Given the description of an element on the screen output the (x, y) to click on. 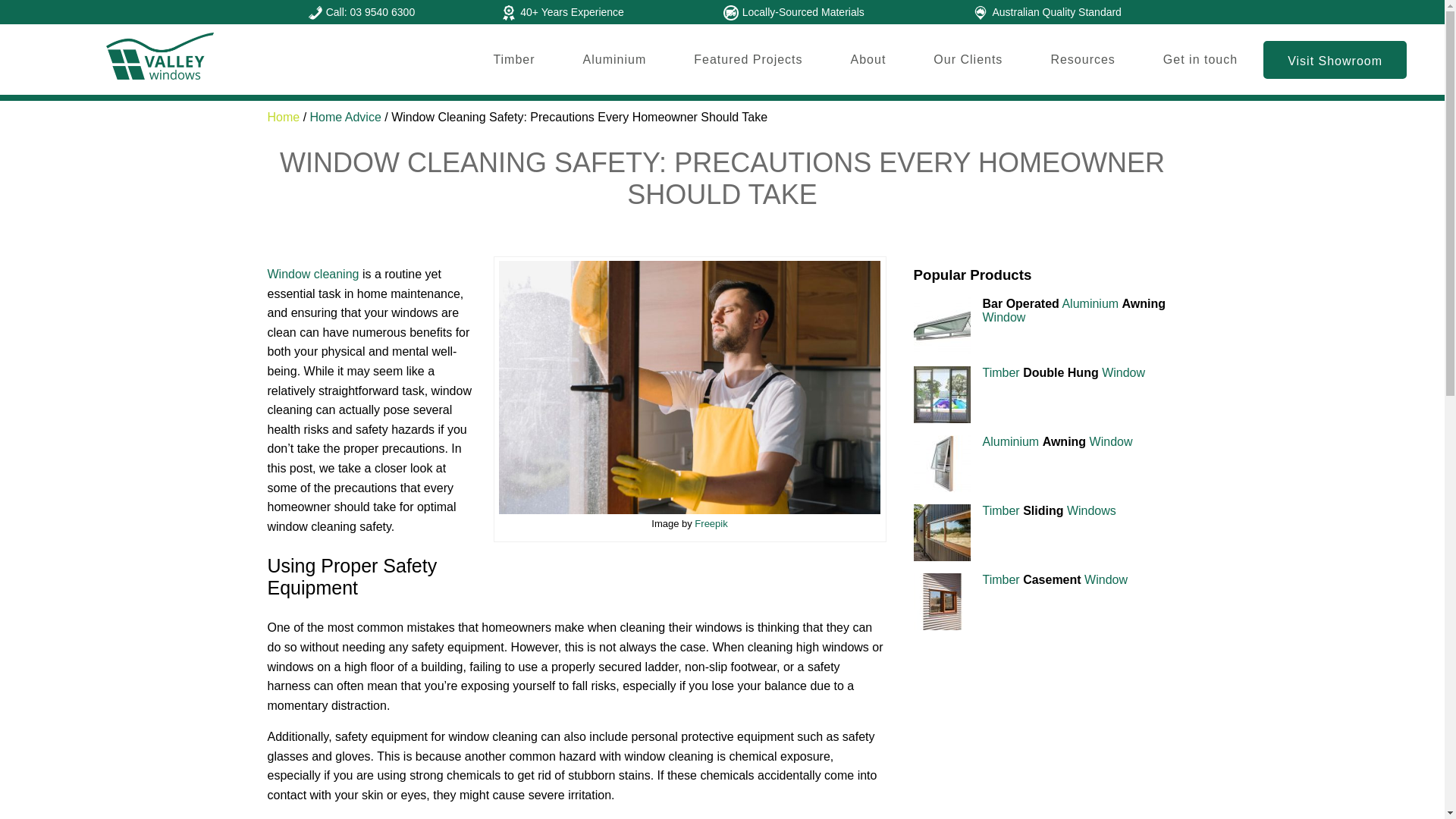
Freepik (710, 523)
Home (282, 116)
Resources (1082, 59)
Timber Casement Window (1054, 579)
Home Advice (345, 116)
Aluminium Awning Window (1057, 440)
Timber Sliding Windows (1049, 510)
Aluminium Awning Window (1057, 440)
Timber Double Hung Window (1063, 372)
Window cleaning (312, 273)
